Given the description of an element on the screen output the (x, y) to click on. 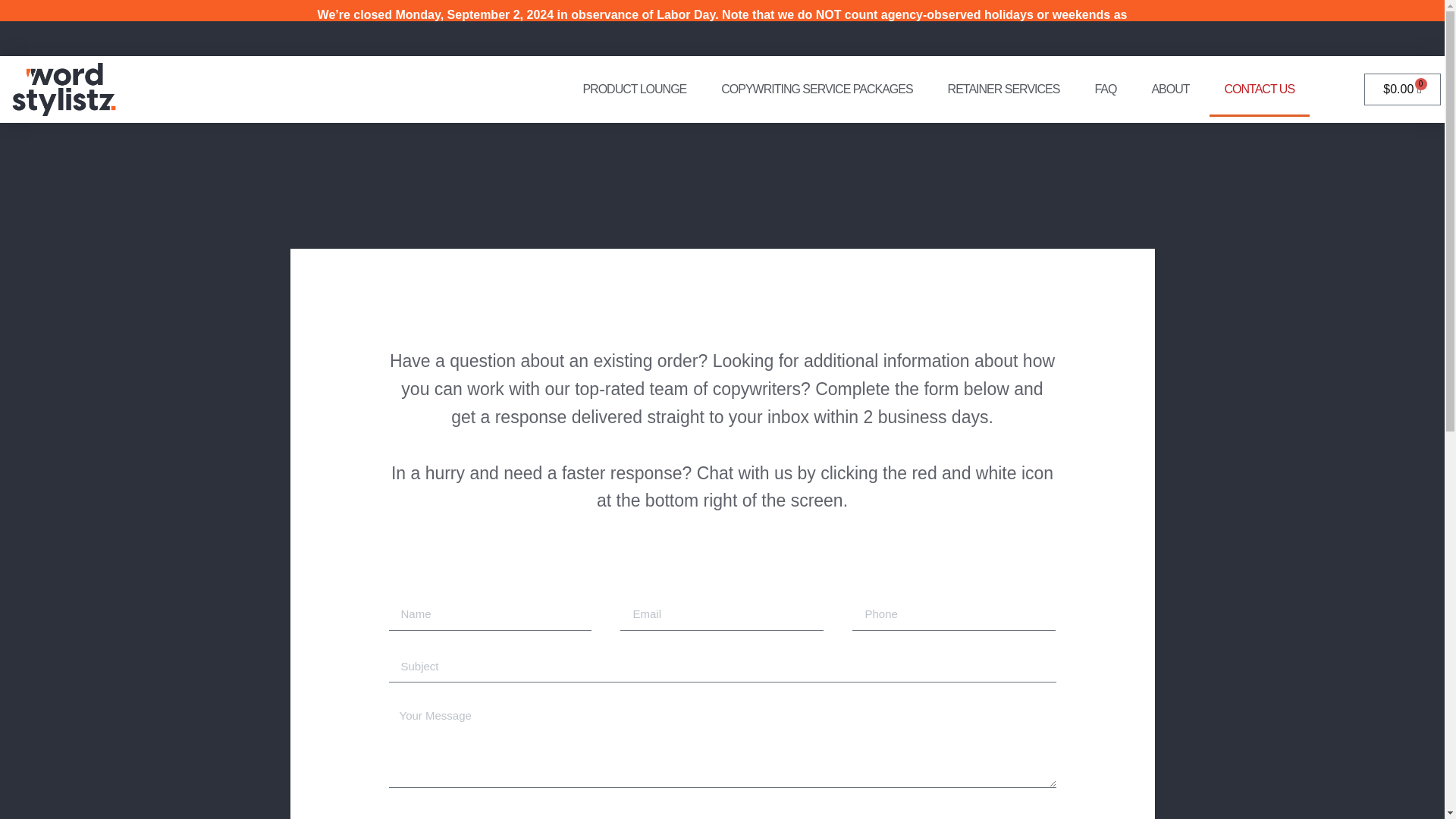
PRODUCT LOUNGE (634, 89)
COPYWRITING SERVICE PACKAGES (816, 89)
RETAINER SERVICES (1004, 89)
CONTACT US (1259, 89)
ABOUT (1169, 89)
FAQ (1104, 89)
